Given the description of an element on the screen output the (x, y) to click on. 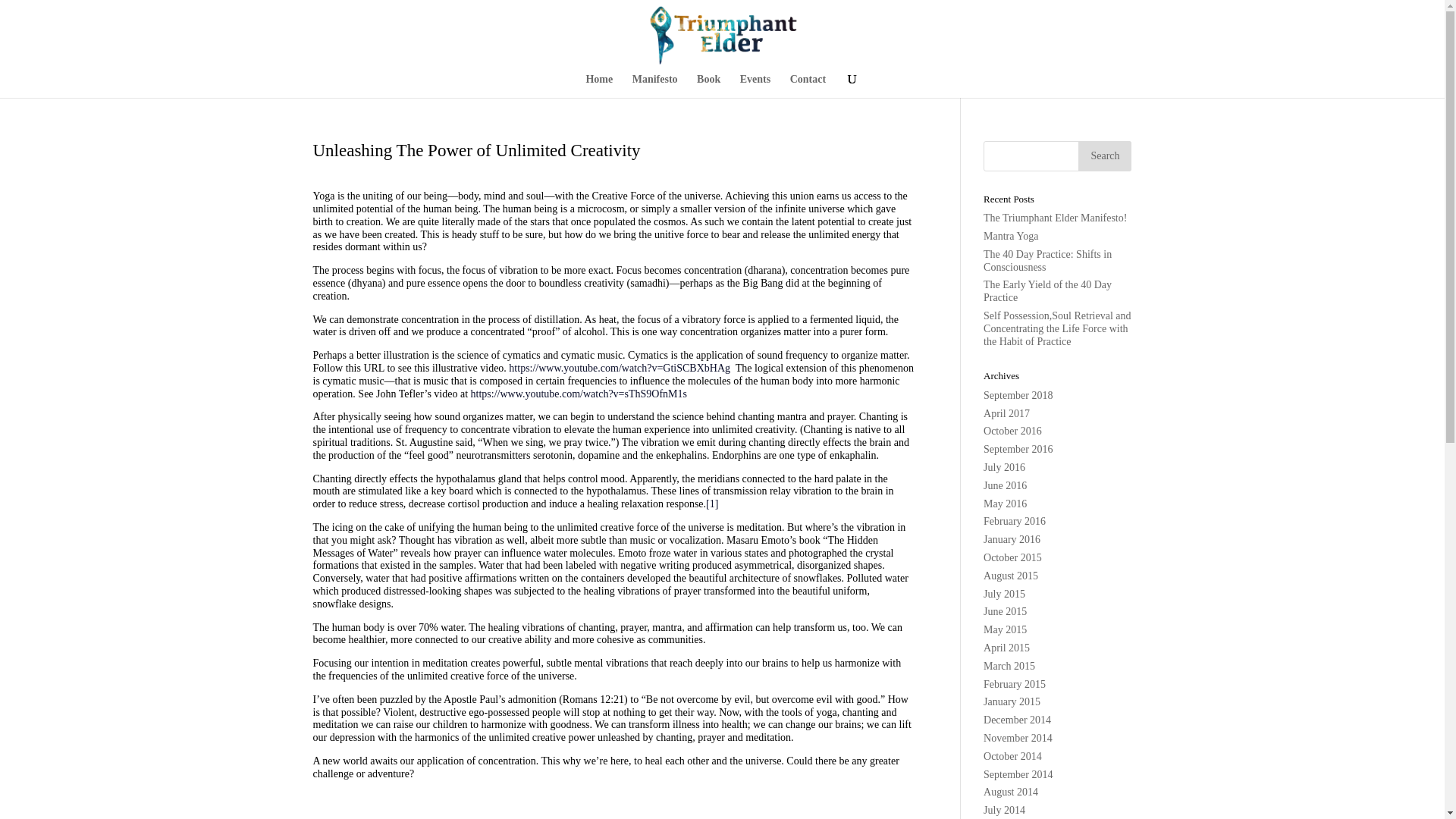
Book (708, 85)
April 2015 (1006, 647)
April 2017 (1006, 413)
The 40 Day Practice: Shifts in Consciousness (1048, 260)
January 2016 (1012, 539)
June 2016 (1005, 485)
October 2016 (1013, 430)
March 2015 (1009, 665)
Events (754, 85)
May 2015 (1005, 629)
Contact (807, 85)
June 2015 (1005, 611)
October 2015 (1013, 557)
Search (1104, 155)
May 2016 (1005, 503)
